Given the description of an element on the screen output the (x, y) to click on. 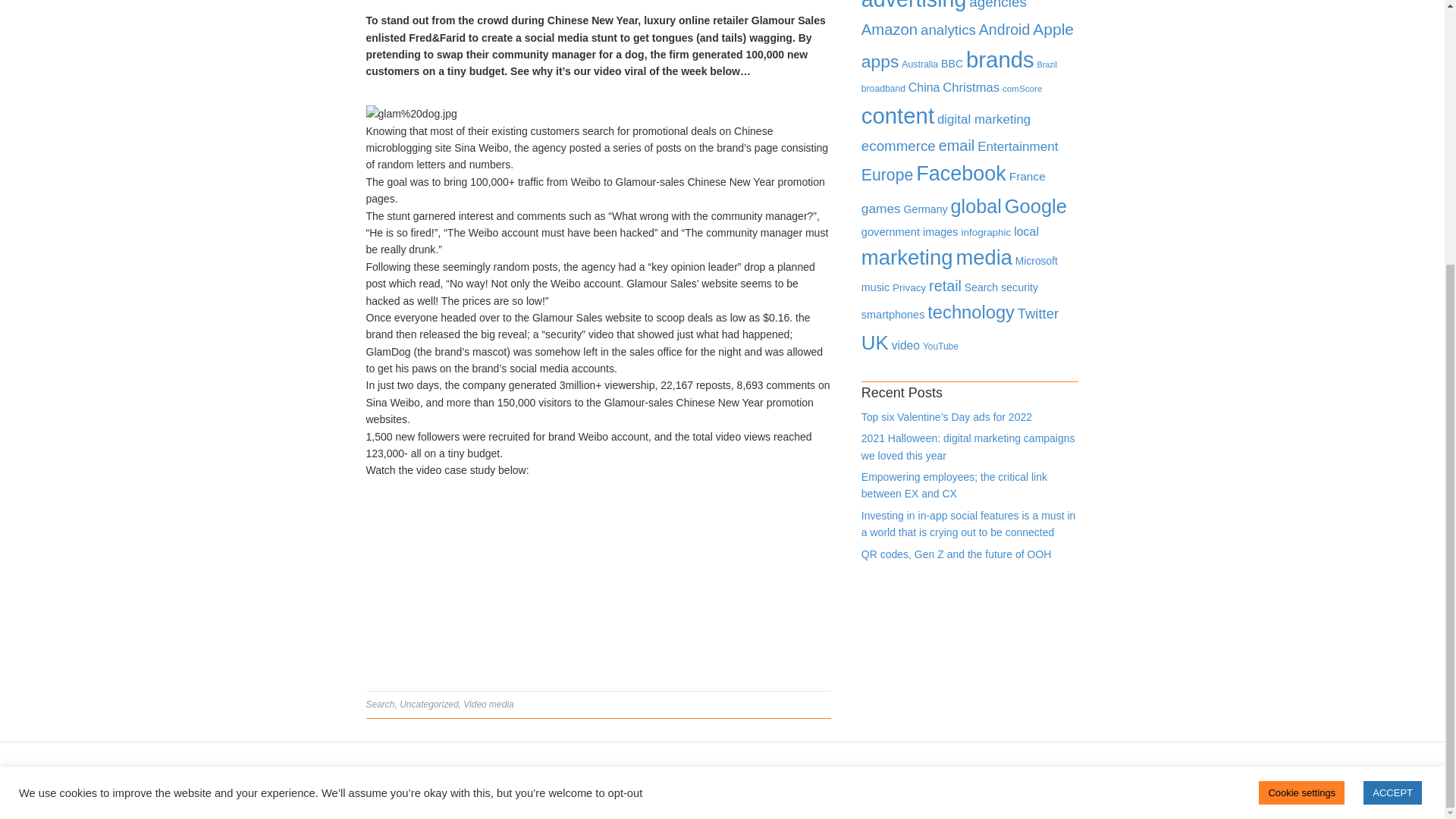
agencies (997, 4)
analytics (947, 29)
advertising (913, 5)
Australia (919, 63)
Christmas (970, 87)
Search (379, 704)
broadband (883, 88)
media (501, 704)
Apple (1053, 28)
Amazon (889, 29)
